Given the description of an element on the screen output the (x, y) to click on. 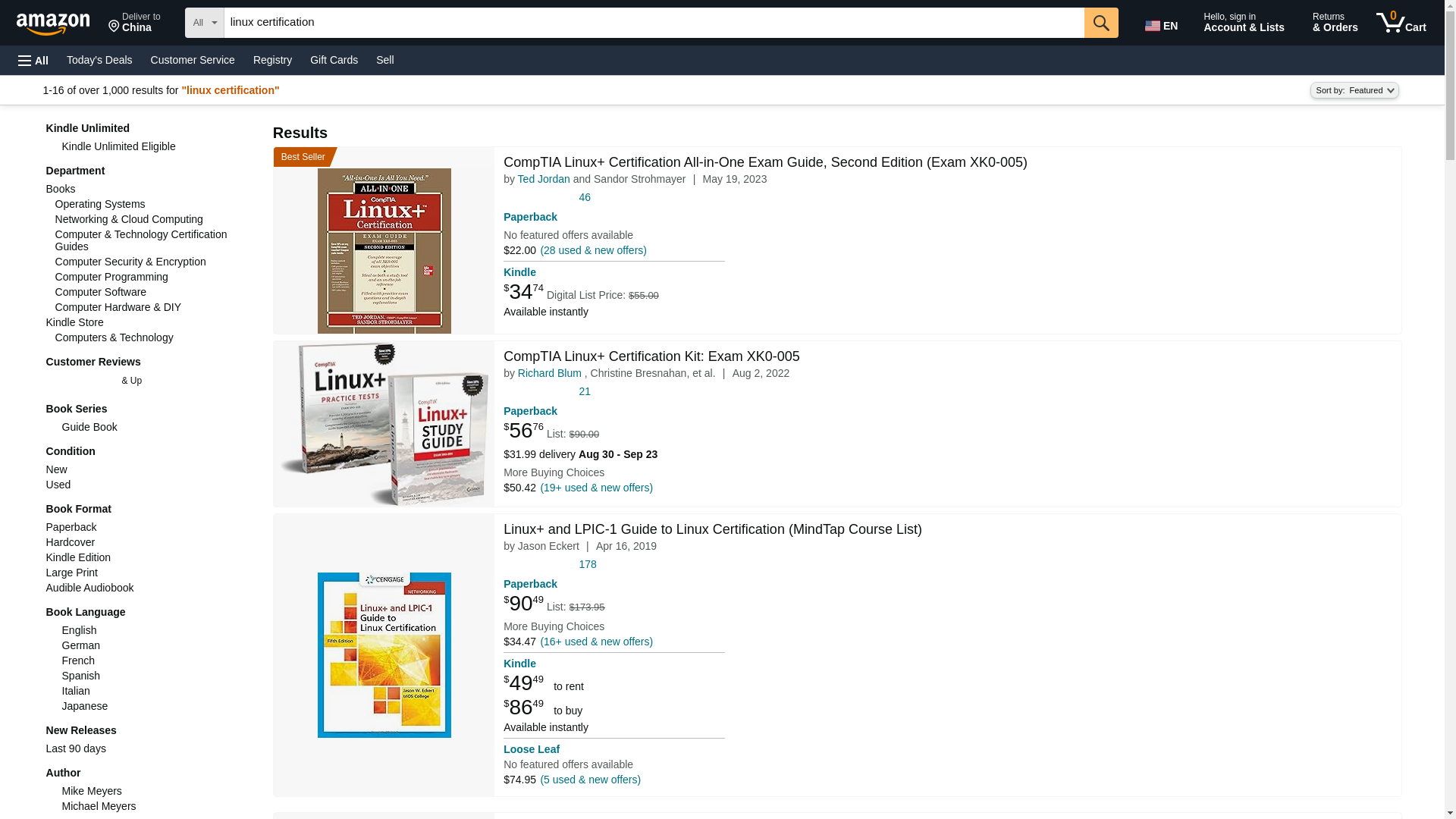
Registry (272, 59)
Go (1101, 22)
21 (585, 391)
Gift Cards (333, 59)
Skip to main content (60, 21)
Paperback (530, 410)
46 (585, 197)
178 (587, 564)
Kindle (519, 272)
Paperback (530, 583)
Paperback (530, 216)
Richard Blum (549, 372)
Sell (384, 59)
Customer Service (134, 22)
